Given the description of an element on the screen output the (x, y) to click on. 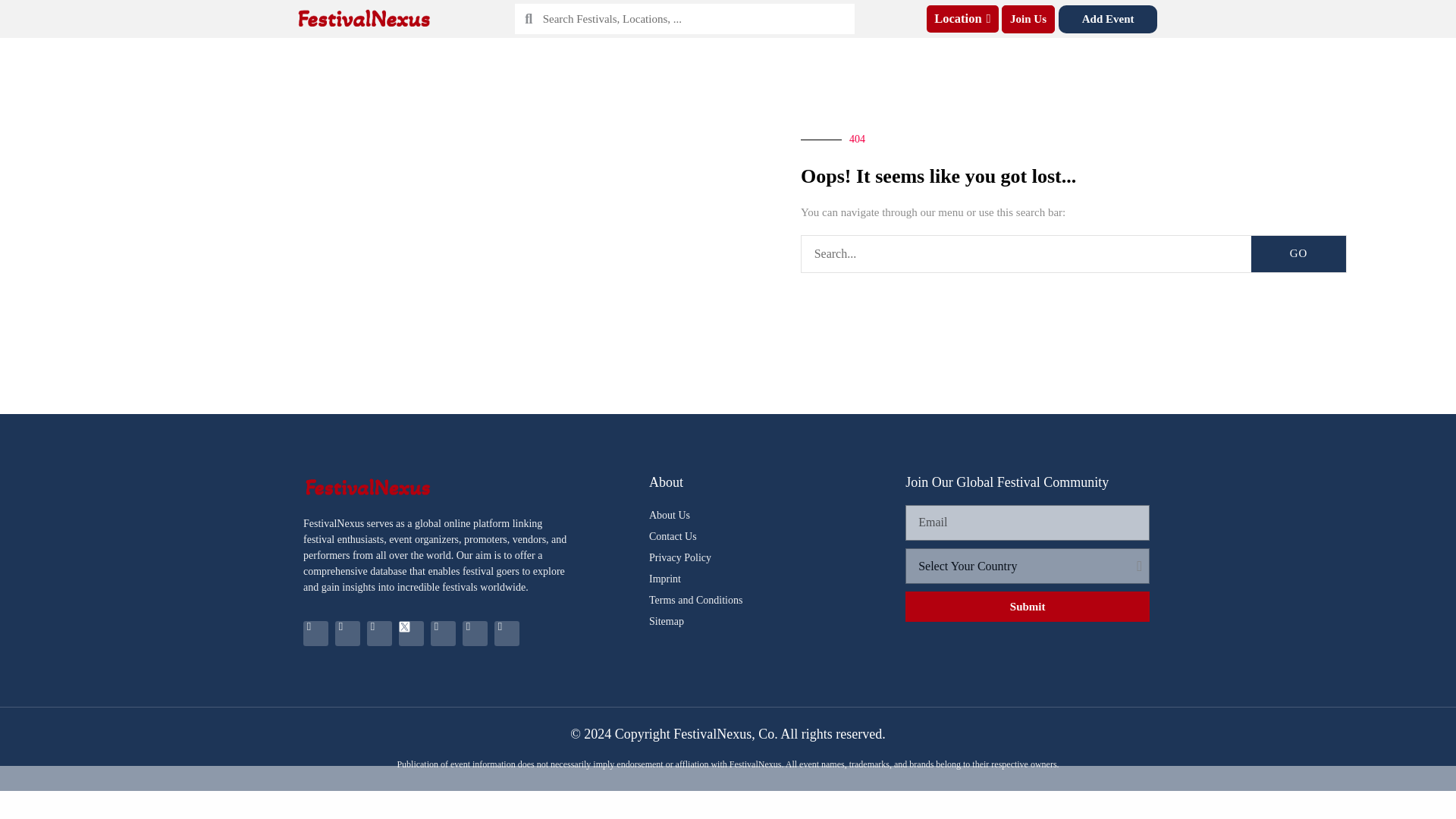
Location (961, 18)
Join Us (1027, 18)
Add Event (1107, 18)
